Given the description of an element on the screen output the (x, y) to click on. 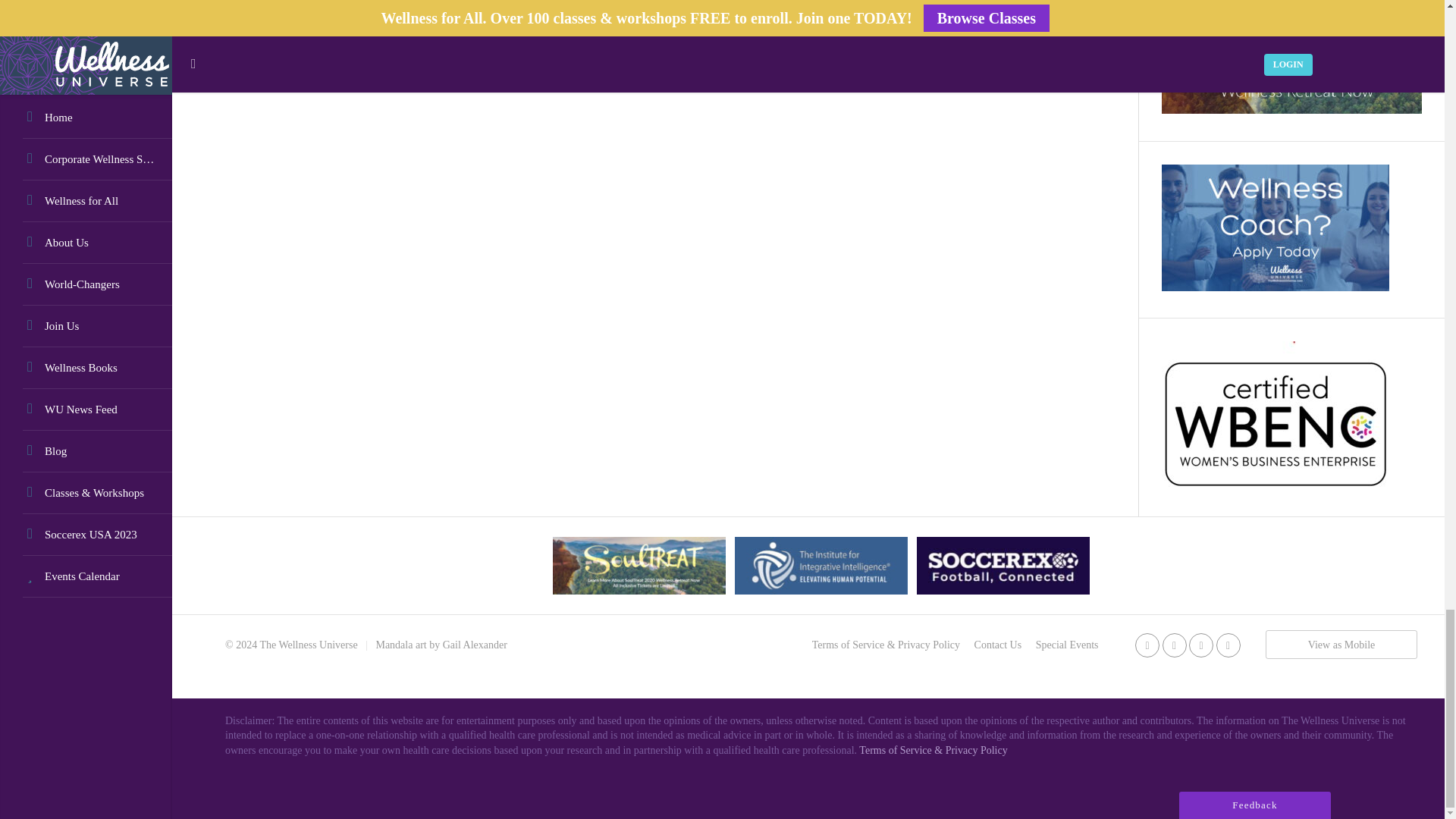
View as Mobile (1340, 644)
